Given the description of an element on the screen output the (x, y) to click on. 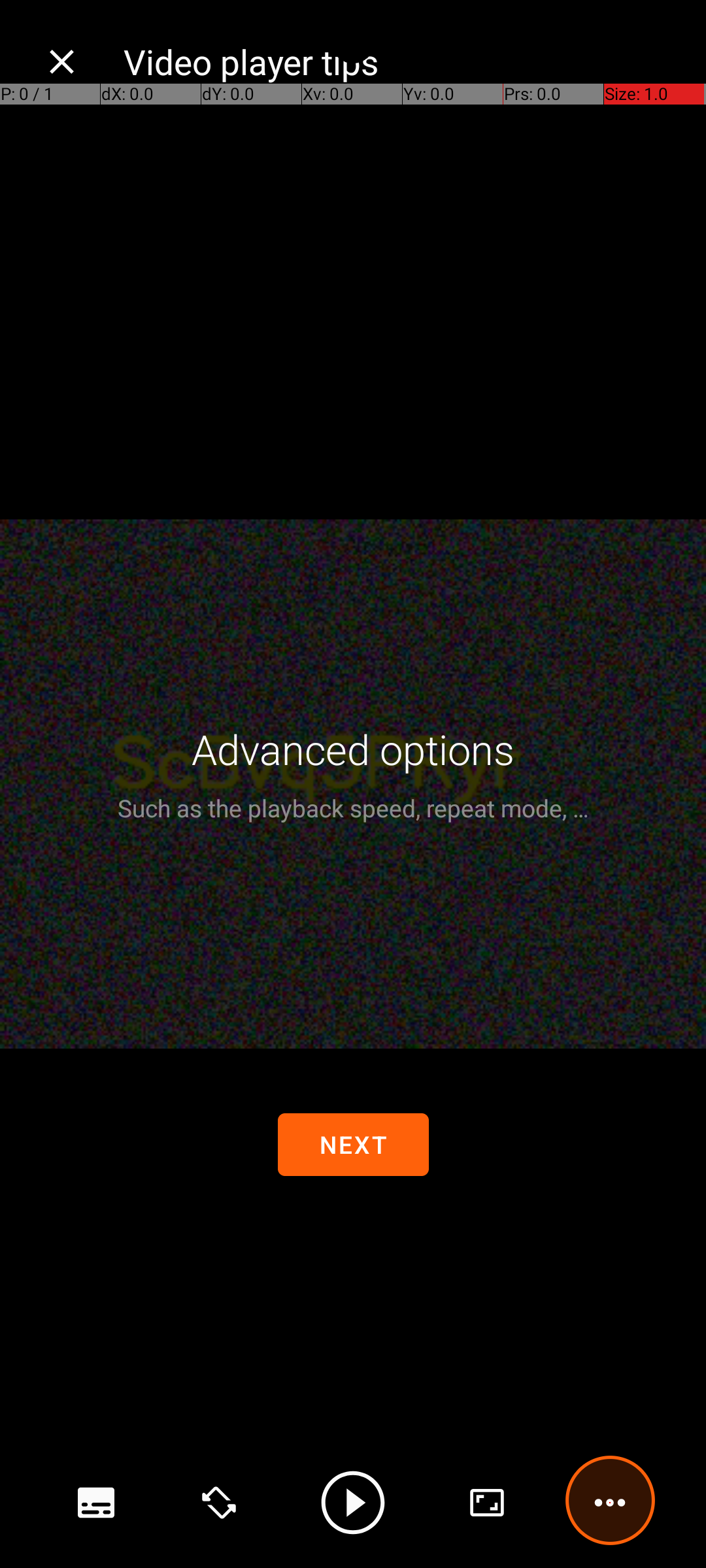
Video player. Tap to show controls. Tap the back button to hide them Element type: android.widget.FrameLayout (353, 784)
Video player tips Element type: android.widget.TextView (400, 61)
Advanced options Element type: android.widget.TextView (352, 748)
Such as the playback speed, repeat mode, … Element type: android.widget.TextView (352, 807)
advanced options Element type: android.widget.ImageView (486, 1502)
